Given the description of an element on the screen output the (x, y) to click on. 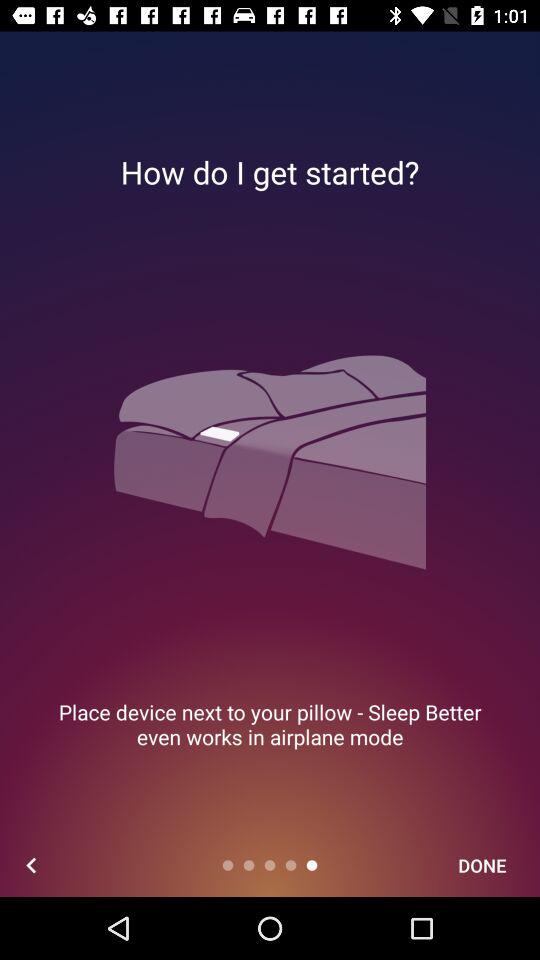
choose the icon at the bottom right corner (482, 864)
